Given the description of an element on the screen output the (x, y) to click on. 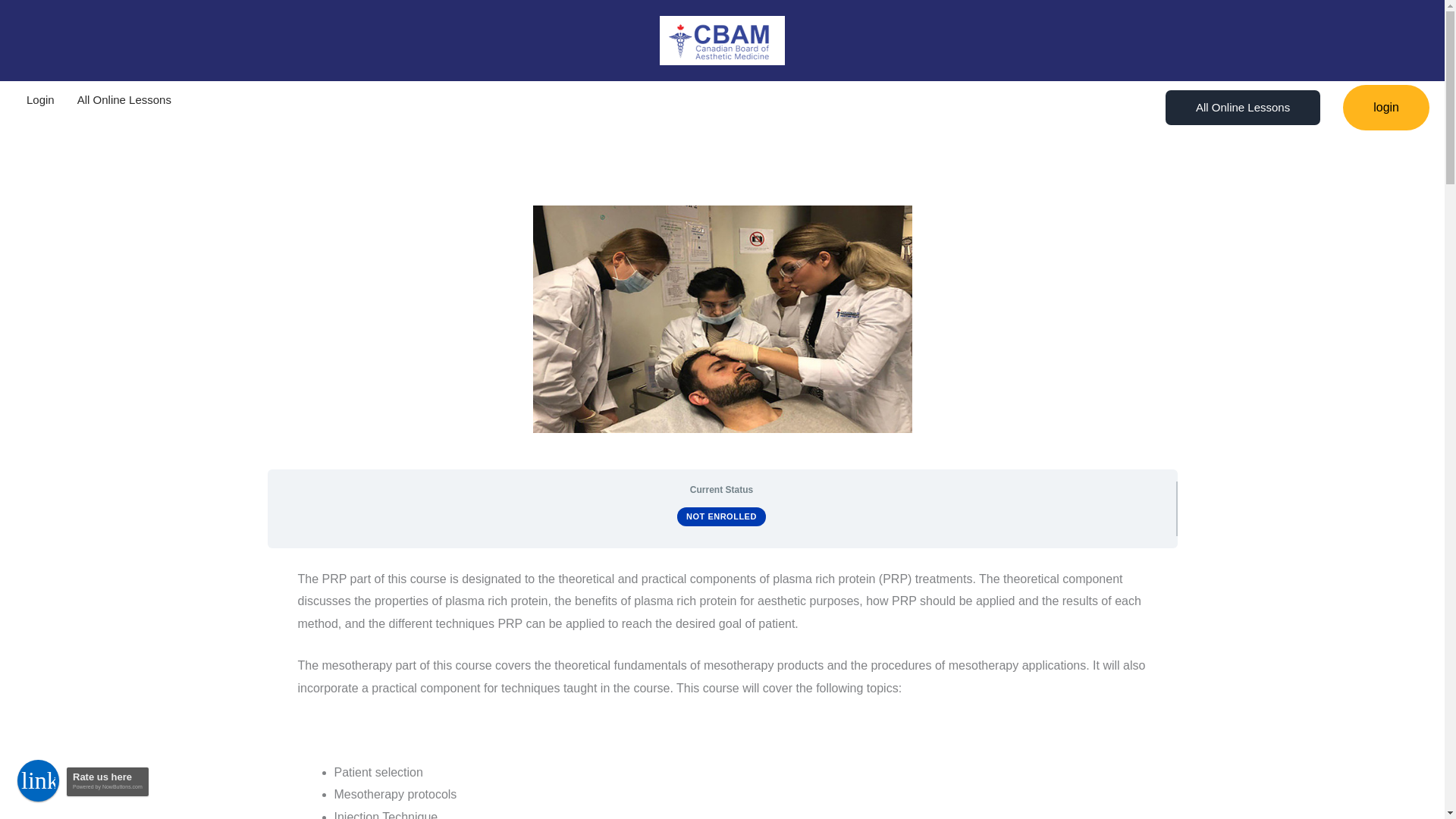
Login (39, 99)
All Online Lessons (1243, 107)
All Online Lessons (124, 99)
login (1385, 108)
